Given the description of an element on the screen output the (x, y) to click on. 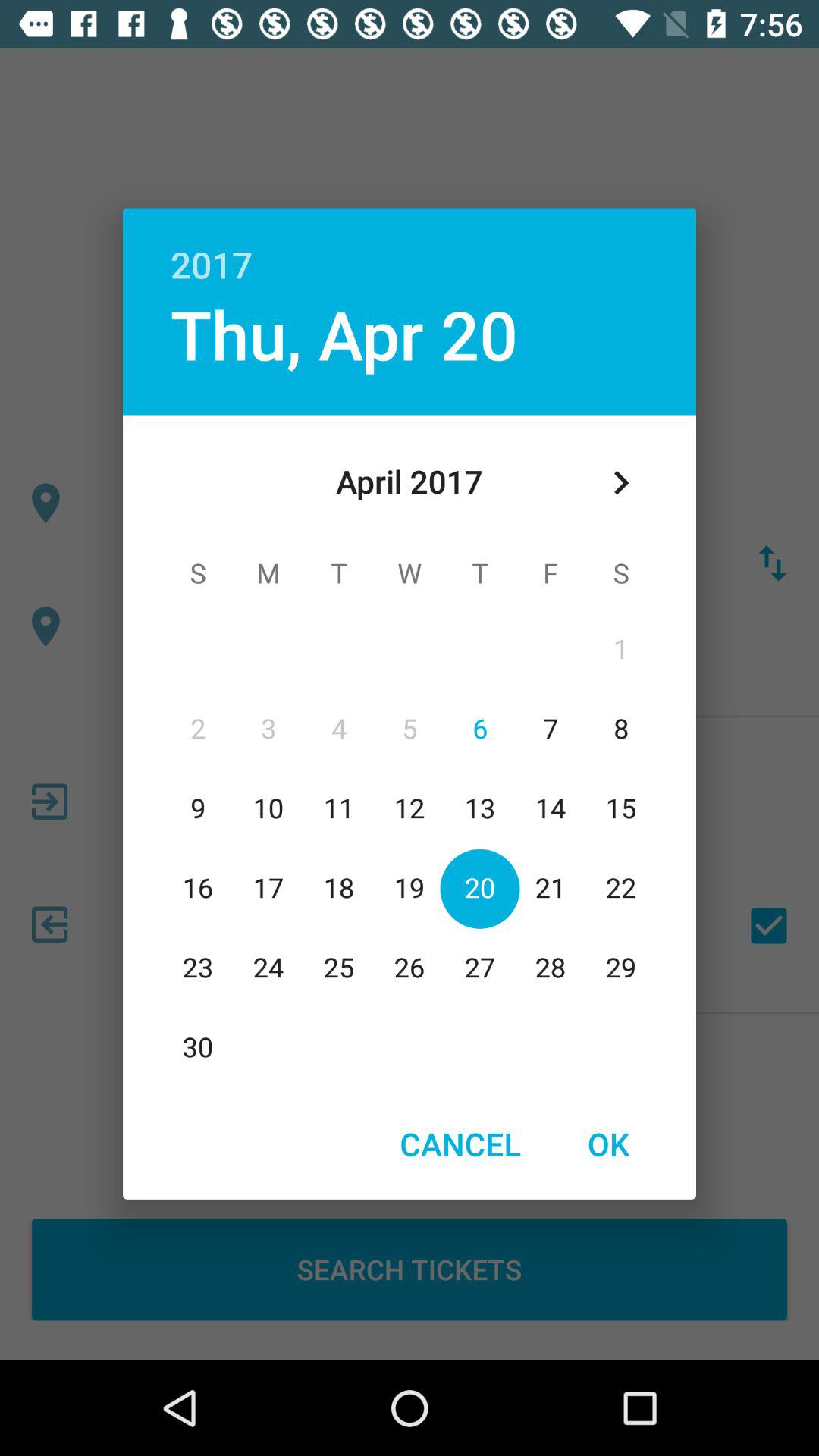
turn on app above thu, apr 20 (409, 248)
